Given the description of an element on the screen output the (x, y) to click on. 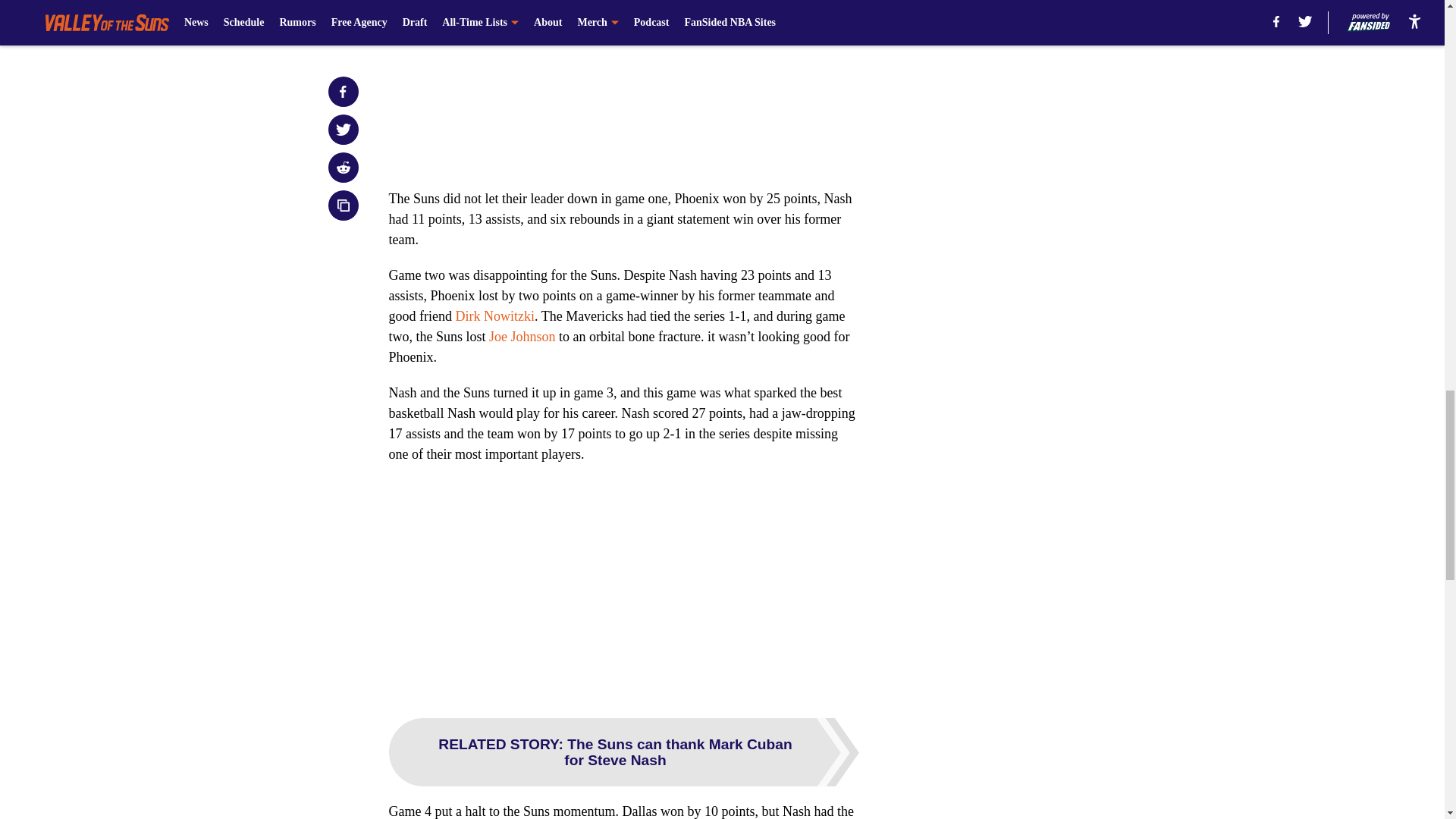
Joe Johnson (522, 336)
RELATED STORY: The Suns can thank Mark Cuban for Steve Nash (623, 752)
Dirk Nowitzki (494, 315)
